Given the description of an element on the screen output the (x, y) to click on. 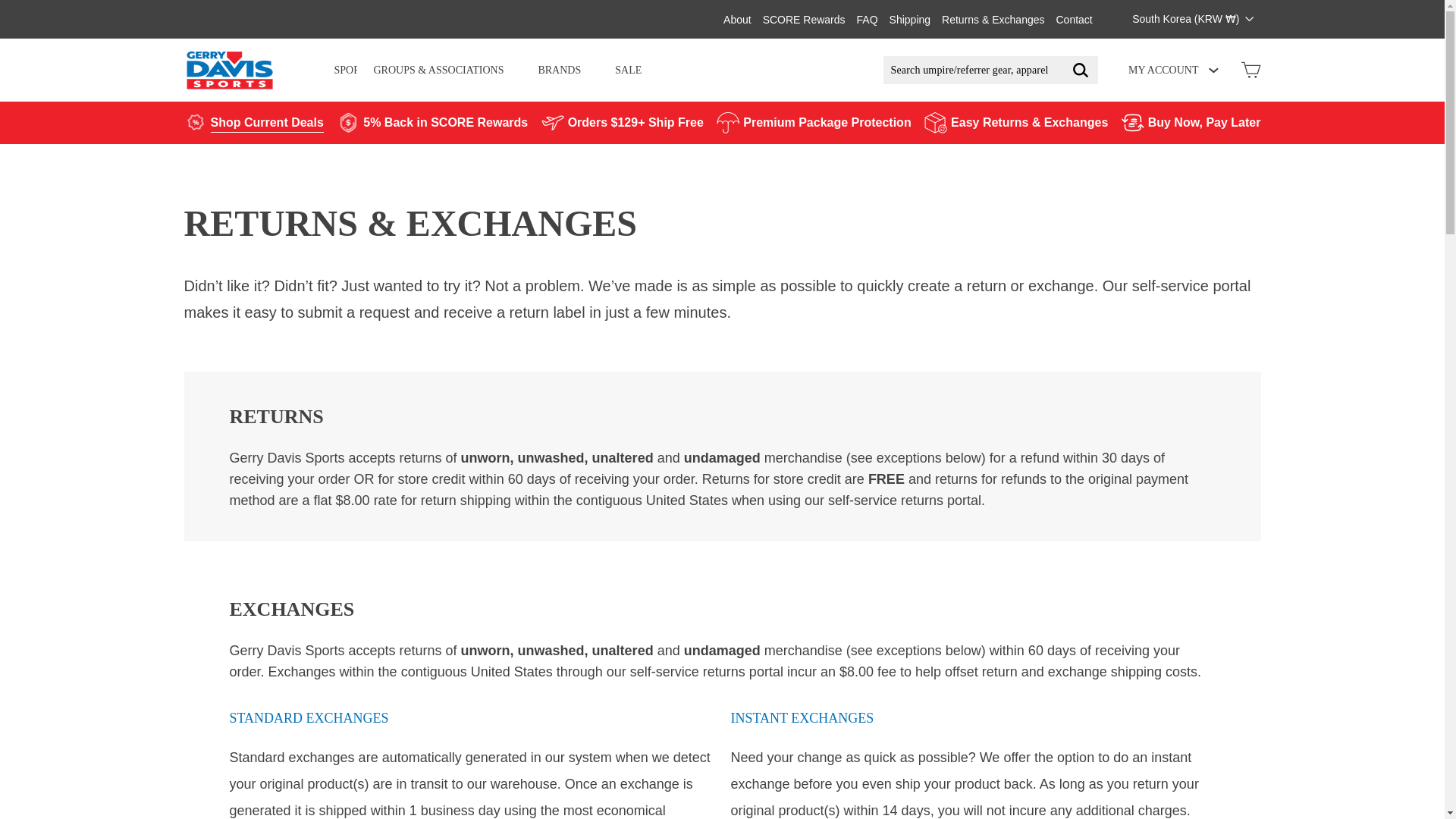
Contact (1073, 18)
Shipping (910, 18)
About (737, 18)
SCORE Rewards (803, 18)
FAQ (867, 18)
